Given the description of an element on the screen output the (x, y) to click on. 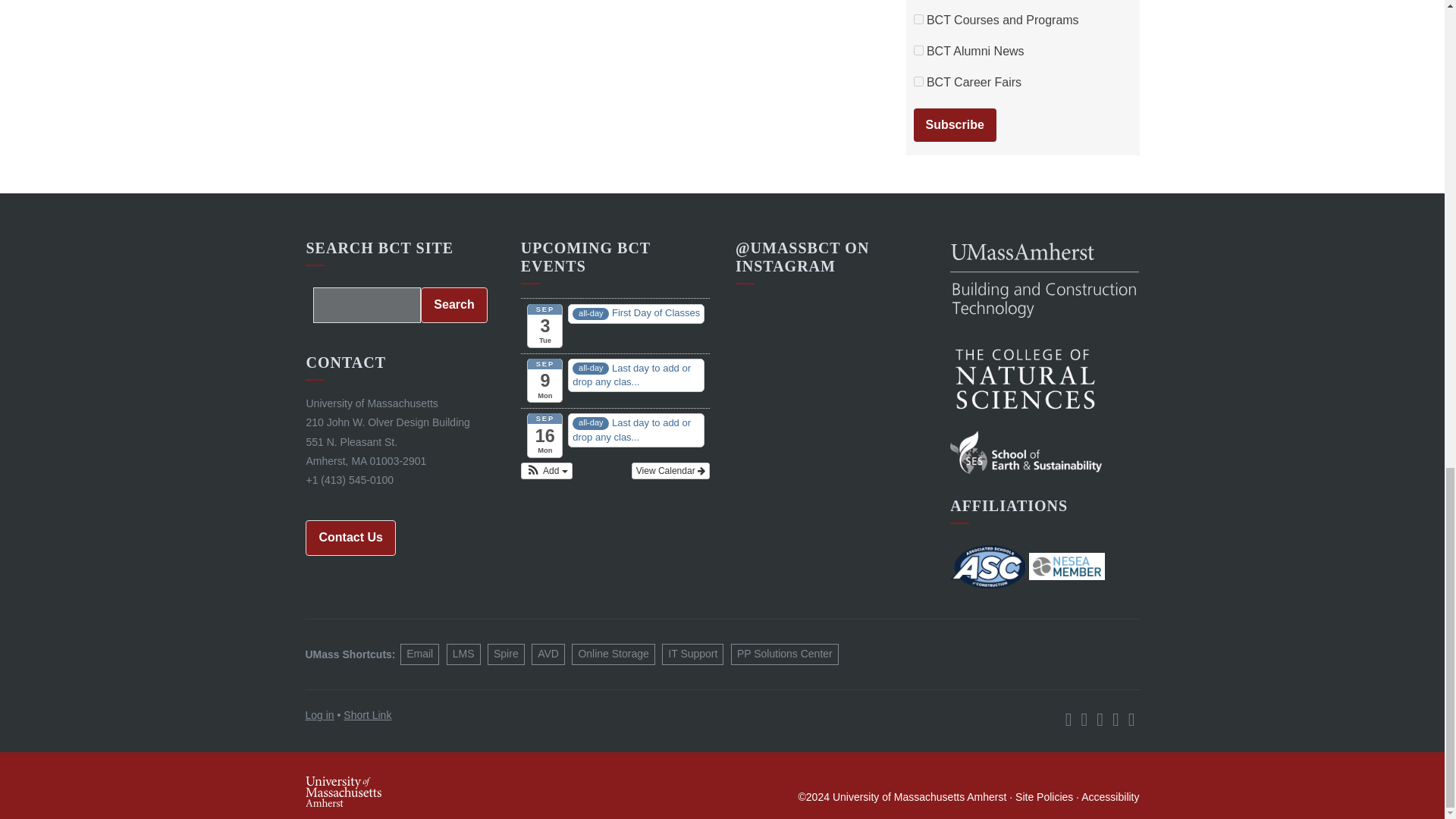
Subscribe (953, 125)
8 (917, 81)
2 (917, 50)
16 (917, 19)
Search (453, 304)
